Given the description of an element on the screen output the (x, y) to click on. 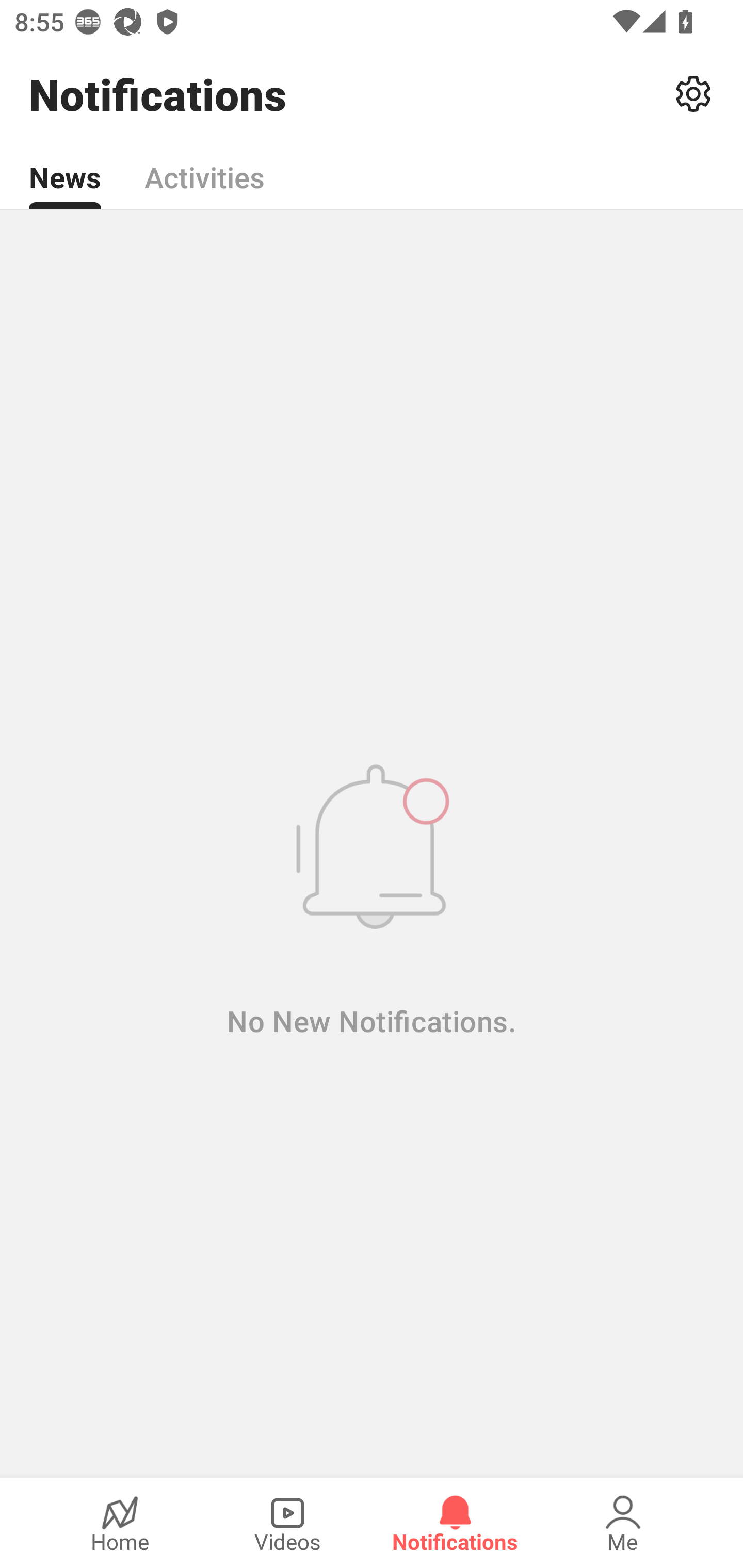
Activities (204, 166)
Home (119, 1522)
Videos (287, 1522)
Me (622, 1522)
